Given the description of an element on the screen output the (x, y) to click on. 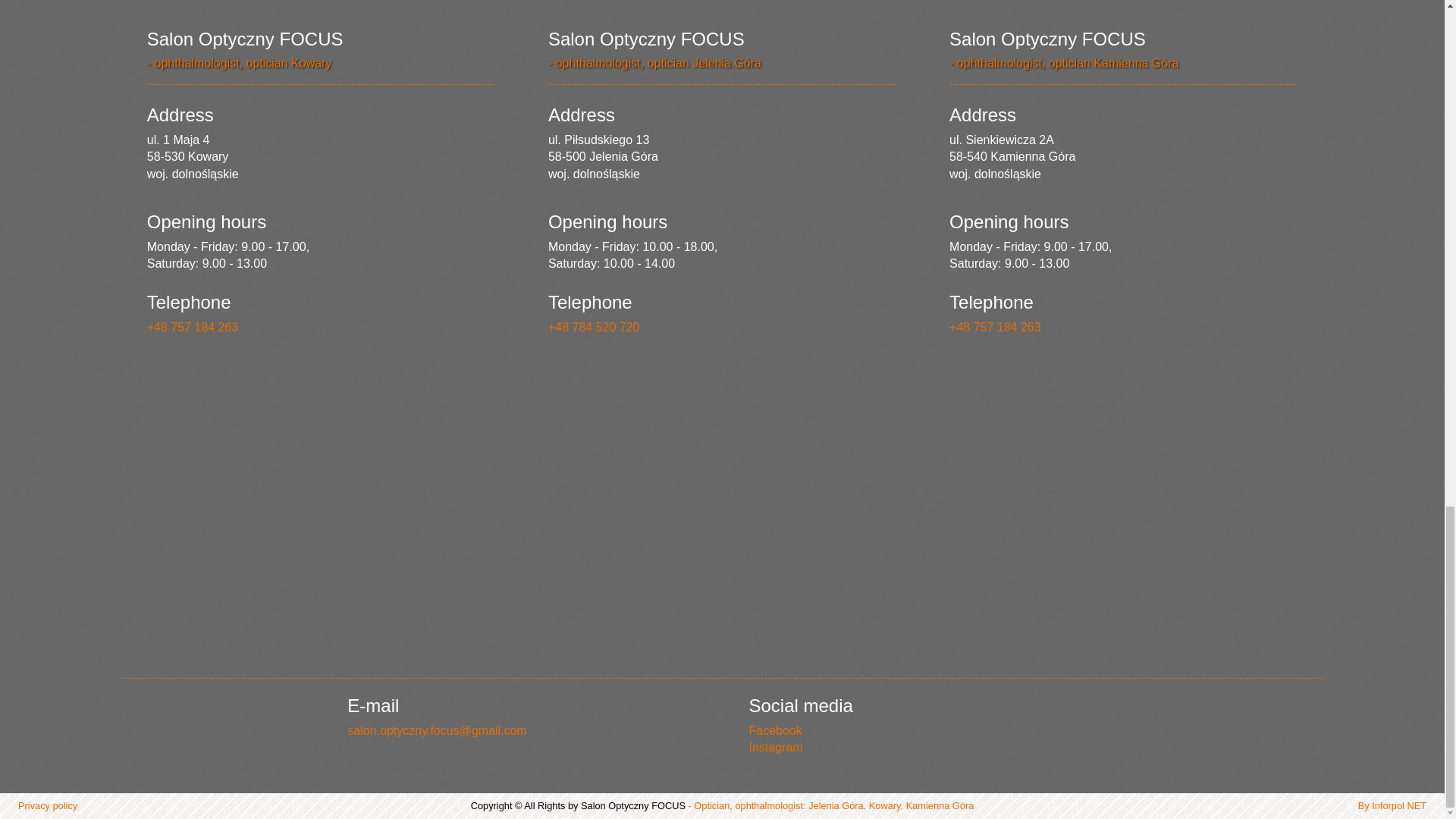
Salon Optyczny FOCUS - optyk Kowary (321, 502)
- ophthalmologist, optician Kowary (239, 62)
Runs the default program (192, 327)
